Given the description of an element on the screen output the (x, y) to click on. 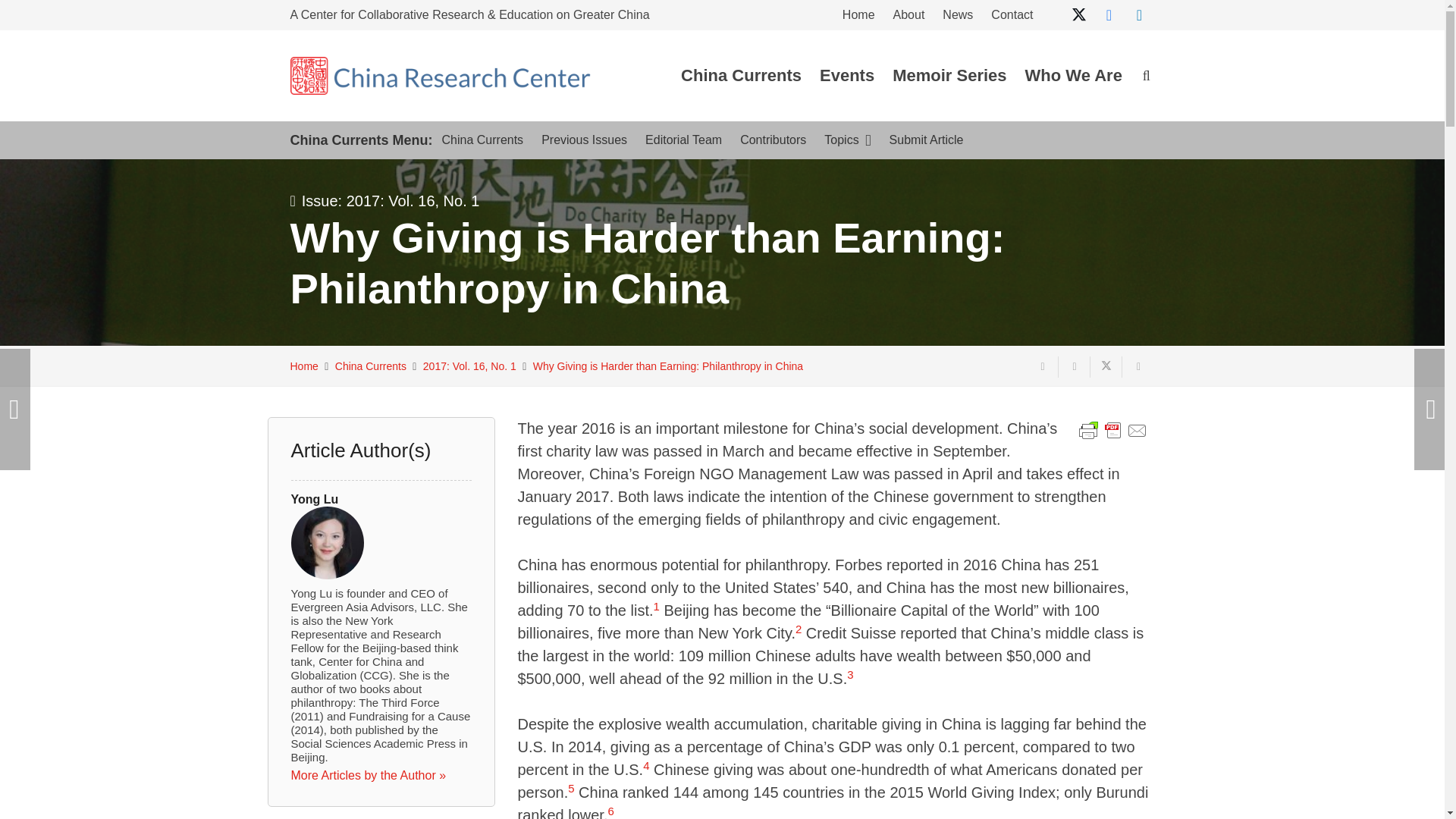
China Currents (482, 139)
More articles by this author (368, 775)
Who We Are (1073, 75)
Editorial Team (683, 139)
News (957, 17)
Twitter (1077, 15)
China Currents (740, 75)
Share this (1138, 366)
About (908, 17)
Contact (1011, 17)
